Given the description of an element on the screen output the (x, y) to click on. 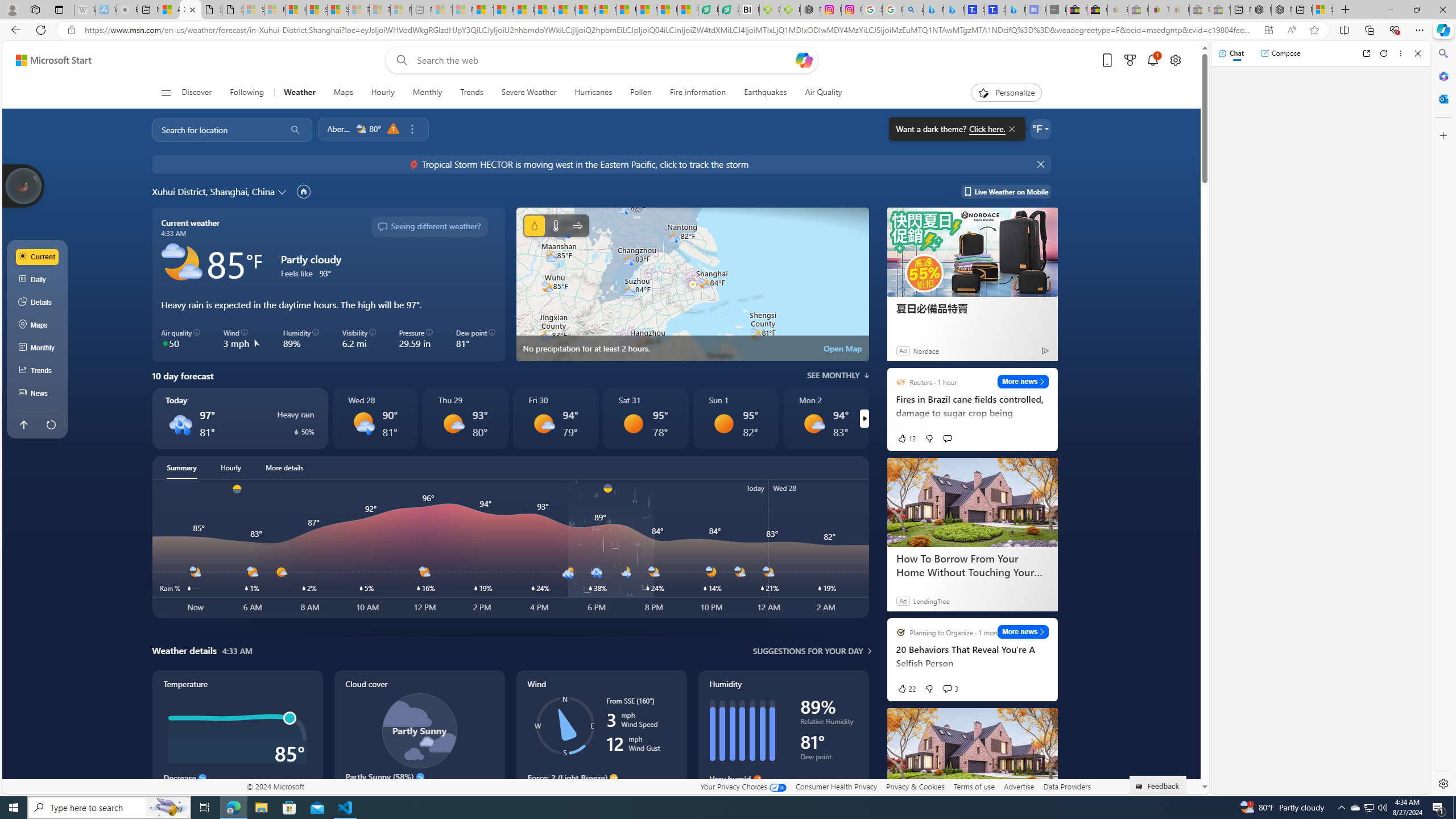
Class: button-glyph (165, 92)
Consumer Health Privacy (835, 785)
Buy iPad - Apple - Sleeping (127, 9)
Current (37, 256)
Consumer Health Privacy (835, 786)
Hurricanes (593, 92)
Your Privacy Choices (743, 786)
Class: miniMapRadarSVGView-DS-EntryPoint1-1 (692, 284)
